Given the description of an element on the screen output the (x, y) to click on. 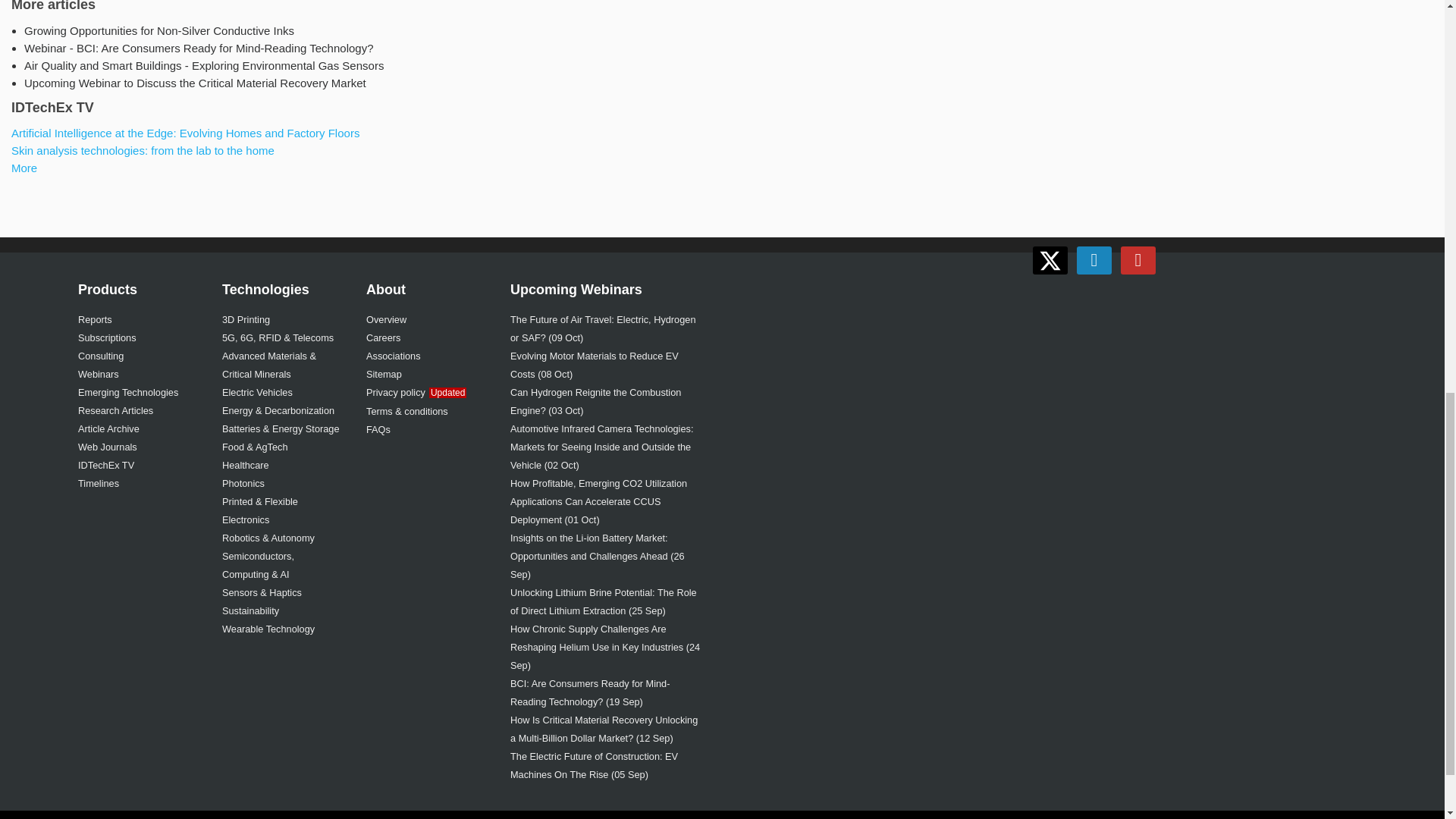
Reports (95, 319)
Web Journals (107, 446)
Emerging Technologies (127, 392)
3D Printing (245, 319)
Timelines (98, 482)
Consulting (100, 355)
Subscriptions (107, 337)
Article Archive (108, 428)
IDTechEx TV (105, 464)
Webinars (98, 374)
